Given the description of an element on the screen output the (x, y) to click on. 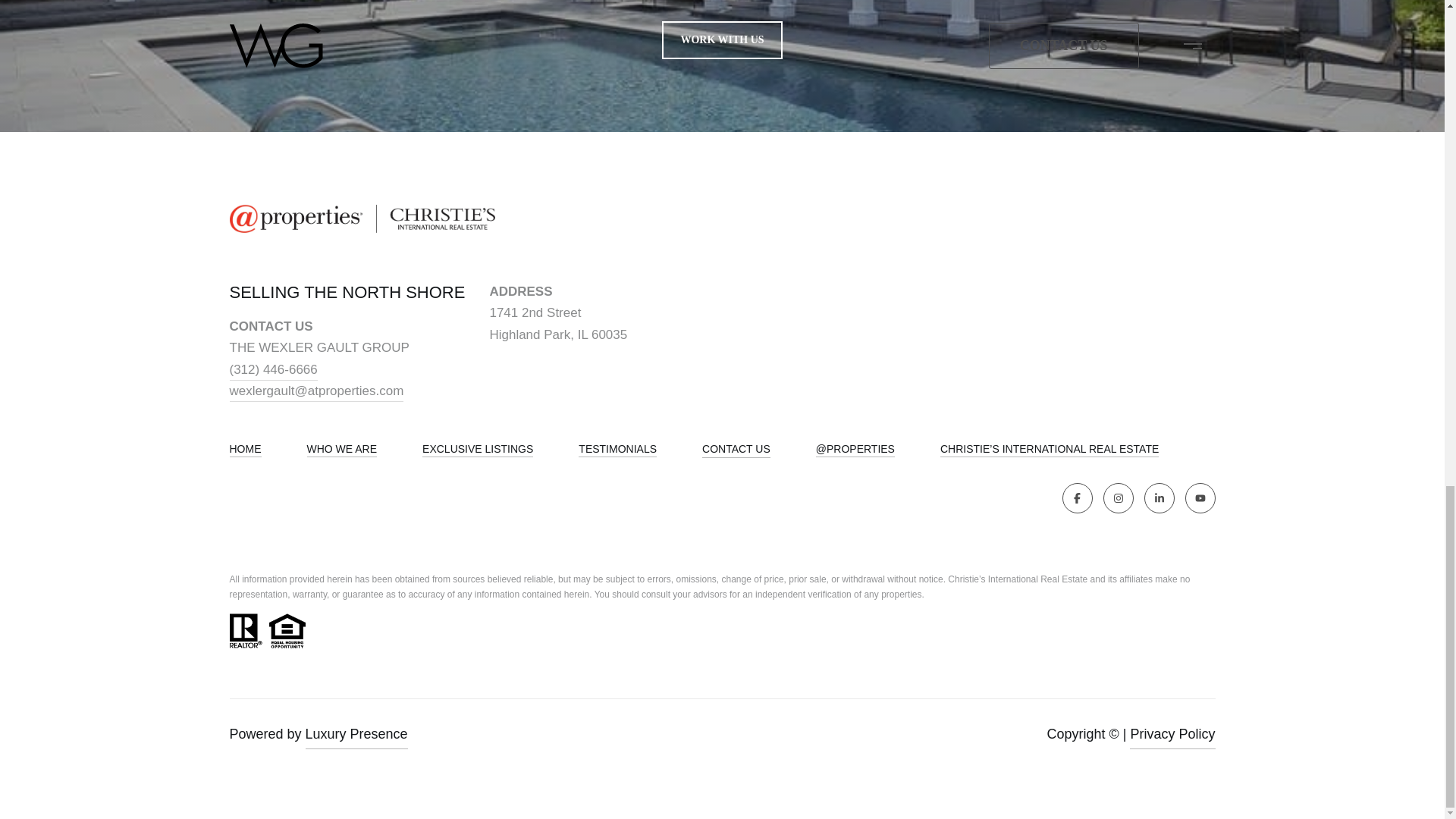
WORK WITH US (721, 39)
HOME (244, 448)
WHO WE ARE (341, 448)
